Given the description of an element on the screen output the (x, y) to click on. 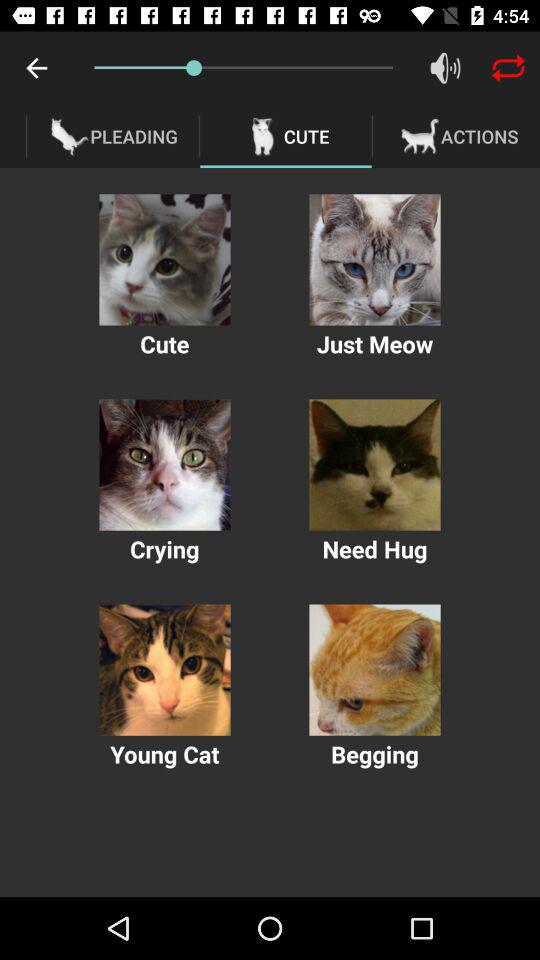
select young cat option (164, 669)
